Given the description of an element on the screen output the (x, y) to click on. 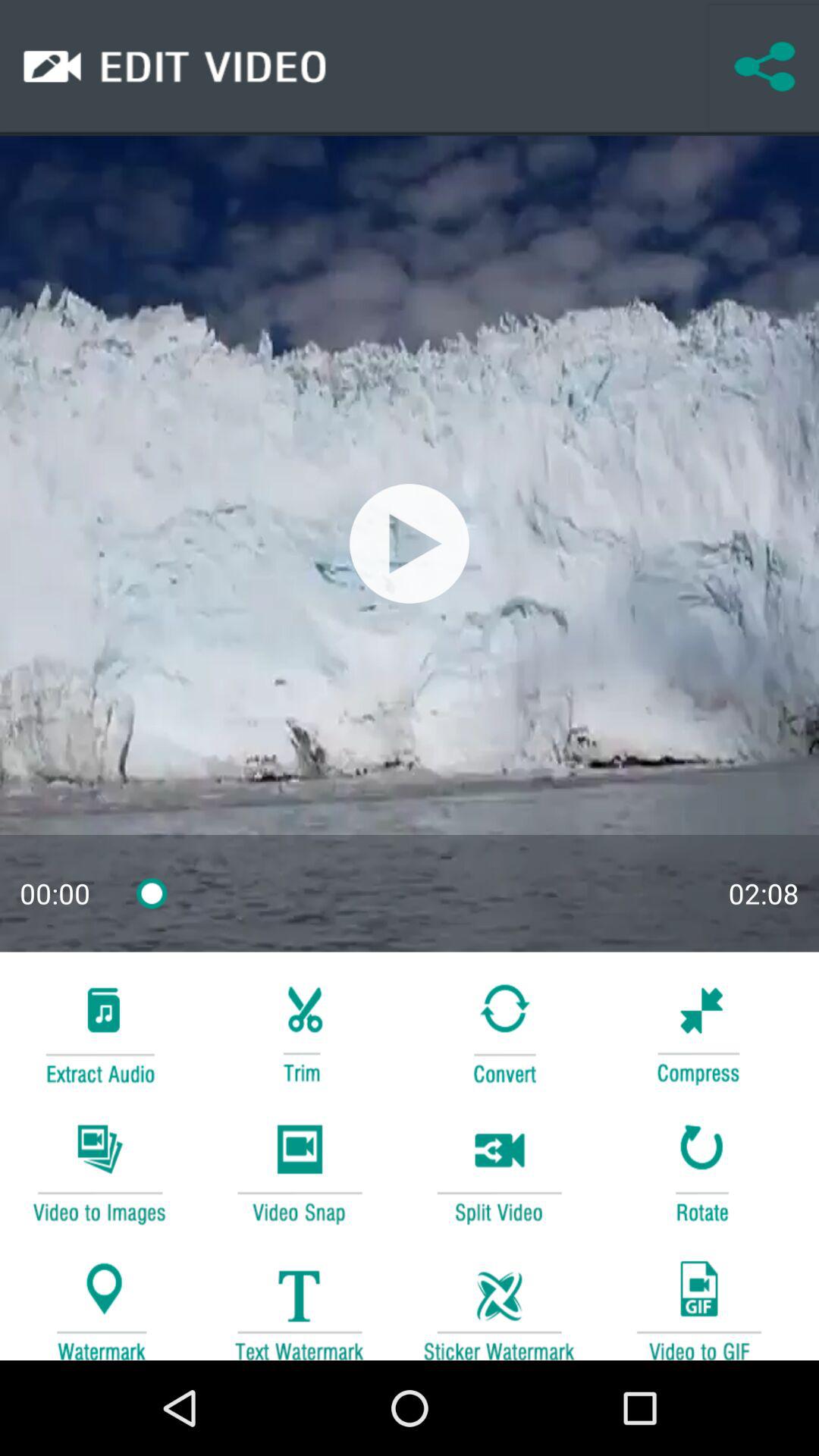
play this video (409, 543)
